Given the description of an element on the screen output the (x, y) to click on. 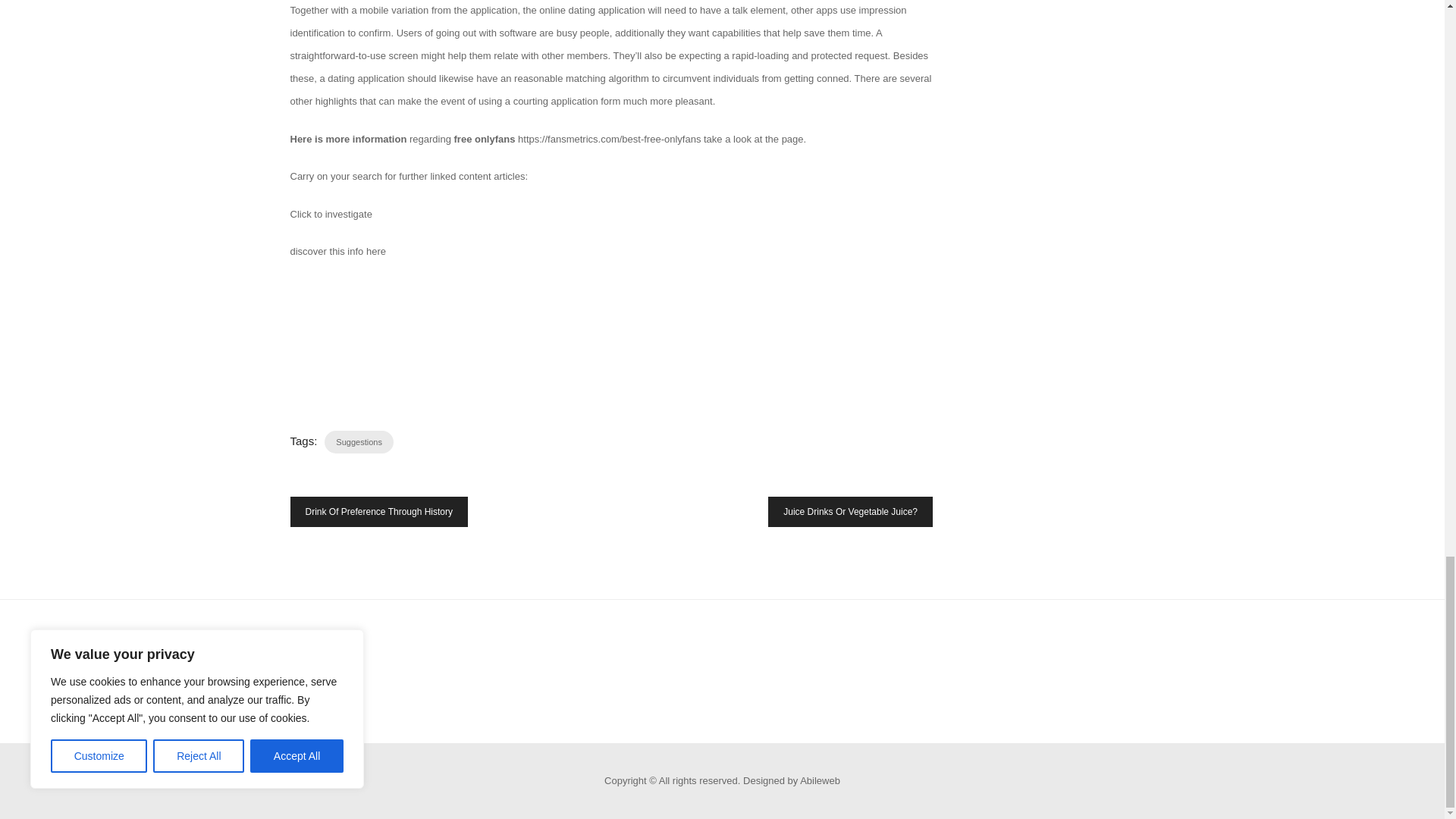
discover this info here (337, 251)
Juice Drinks Or Vegetable Juice? (850, 511)
Click to investigate (330, 214)
Suggestions (358, 441)
Drink Of Preference Through History (378, 511)
